Given the description of an element on the screen output the (x, y) to click on. 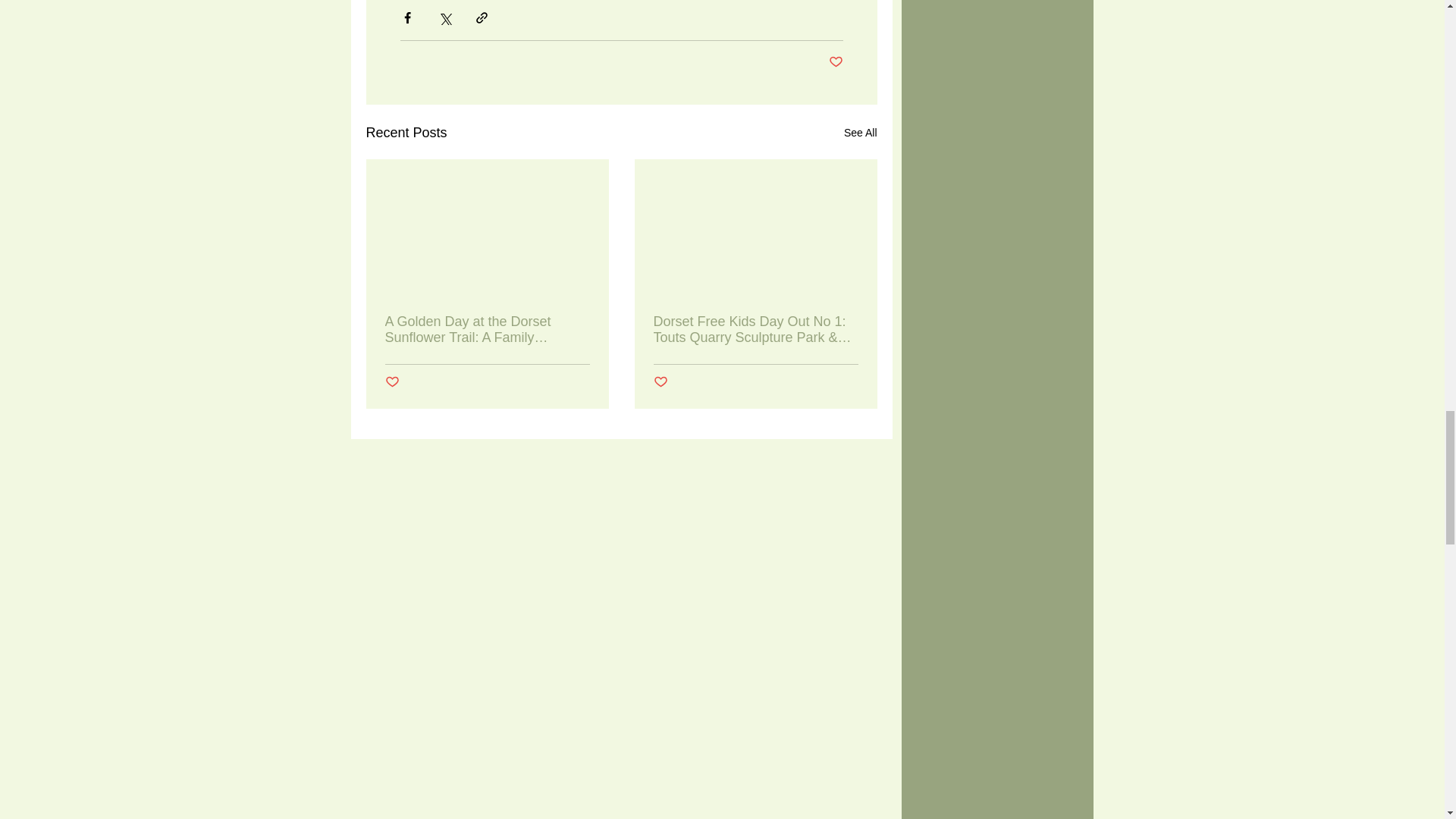
Post not marked as liked (660, 382)
Post not marked as liked (391, 382)
See All (860, 133)
Post not marked as liked (835, 62)
